Given the description of an element on the screen output the (x, y) to click on. 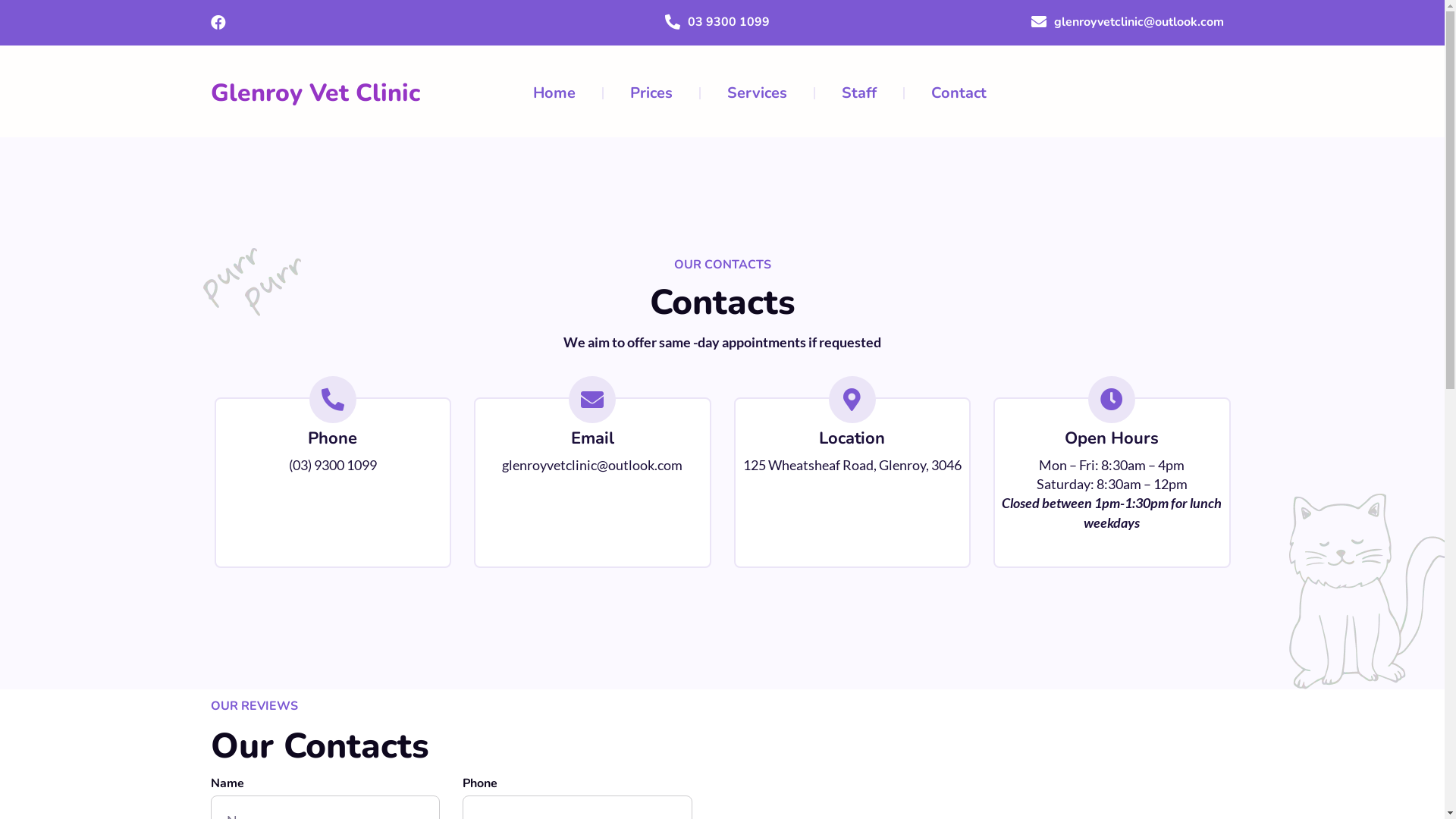
Contact Element type: text (958, 92)
Home Element type: text (553, 92)
Glenroy Vet Clinic Element type: text (315, 92)
Staff Element type: text (858, 92)
Services Element type: text (757, 92)
Prices Element type: text (651, 92)
03 9300 1099 Element type: text (728, 21)
glenroyvetclinic@outlook.com Element type: text (1138, 21)
